Given the description of an element on the screen output the (x, y) to click on. 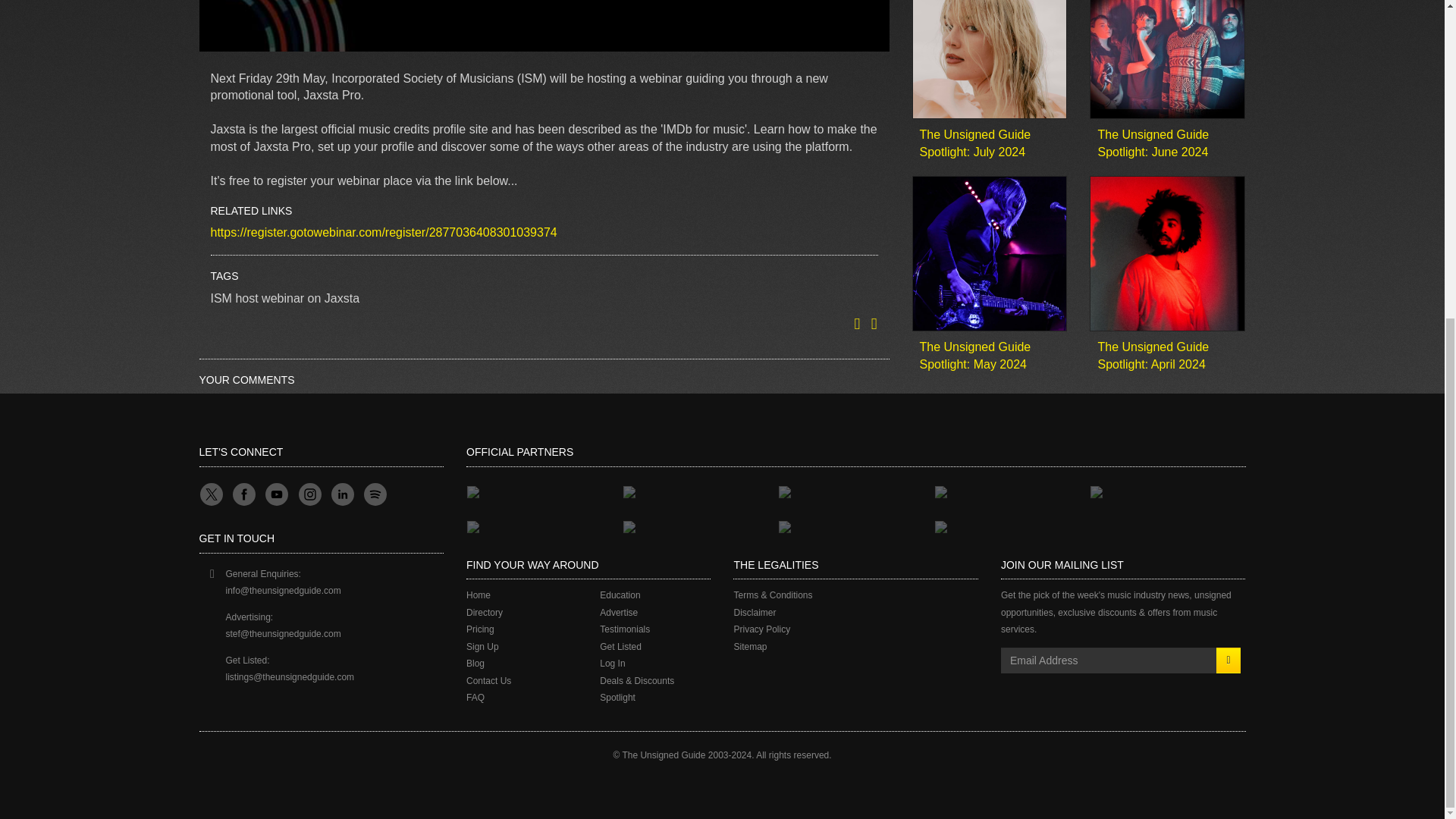
Twitter (209, 493)
Instagram (309, 493)
Facebook (242, 493)
E-mail Address (1108, 660)
Spotify (373, 493)
LinkedIn (341, 493)
YouTube (275, 493)
